Given the description of an element on the screen output the (x, y) to click on. 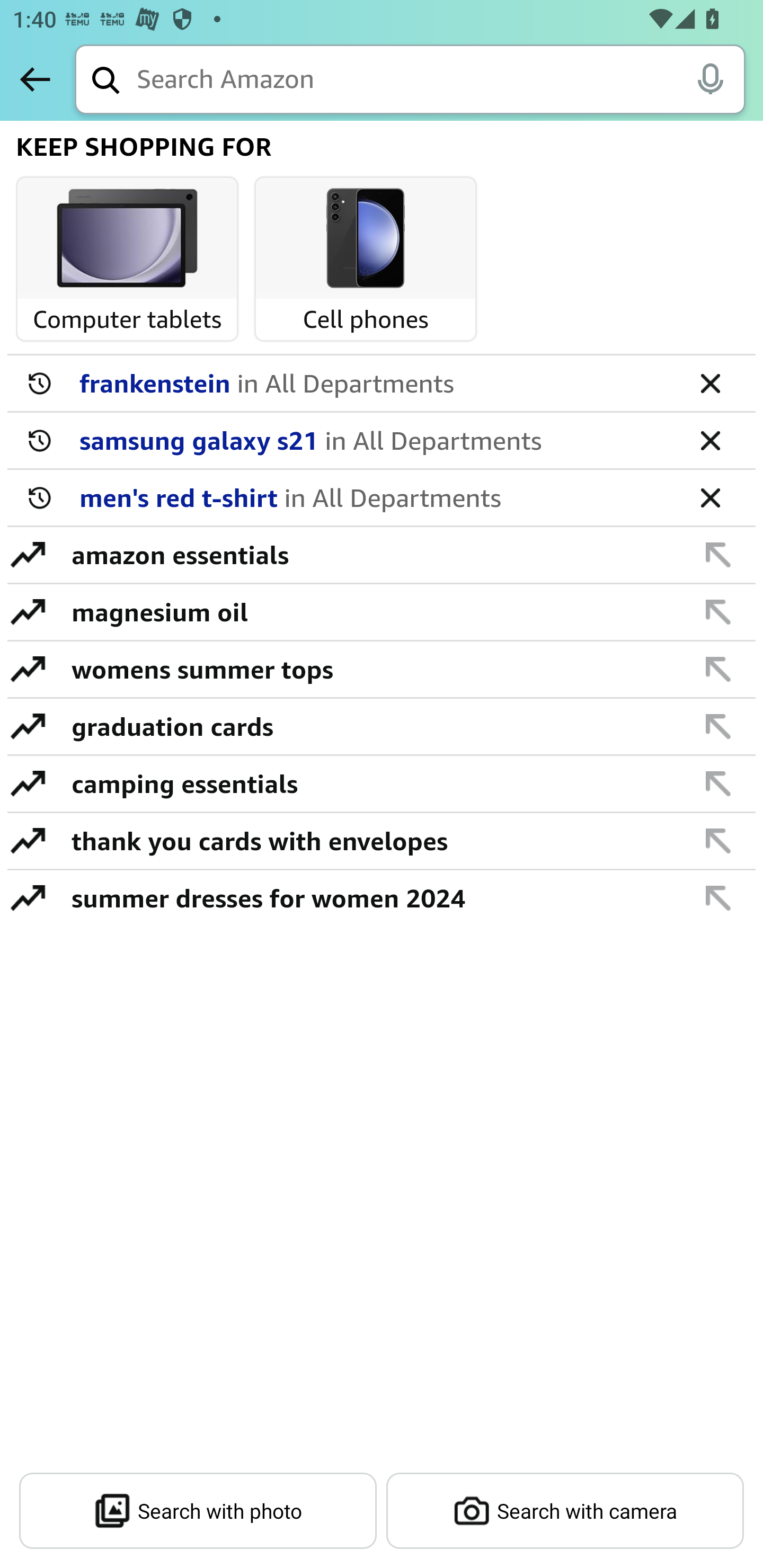
Search Amazon (440, 80)
Back (35, 78)
Alexa (710, 78)
Computer tablets Cell phones (383, 262)
Computer tablets (126, 238)
Cell phones (365, 238)
frankenstein delete (381, 383)
frankenstein (374, 382)
delete (710, 382)
samsung galaxy s21 delete (381, 440)
samsung galaxy s21 (374, 439)
delete (710, 439)
men's red t-shirt delete (381, 497)
men's red t-shirt (374, 496)
delete (710, 496)
amazon essentials append suggestion (381, 554)
amazon essentials (370, 554)
append suggestion (718, 554)
magnesium oil append suggestion (381, 612)
magnesium oil (370, 611)
append suggestion (718, 611)
womens summer tops append suggestion (381, 669)
womens summer tops (370, 668)
append suggestion (718, 668)
graduation cards append suggestion (381, 726)
graduation cards (370, 725)
append suggestion (718, 725)
camping essentials append suggestion (381, 783)
camping essentials (370, 783)
append suggestion (718, 783)
thank you cards with envelopes append suggestion (381, 841)
thank you cards with envelopes (370, 840)
append suggestion (718, 840)
summer dresses for women 2024 append suggestion (381, 897)
summer dresses for women 2024 (370, 897)
append suggestion (718, 897)
Search with photo (197, 1510)
Search with camera (564, 1510)
